Given the description of an element on the screen output the (x, y) to click on. 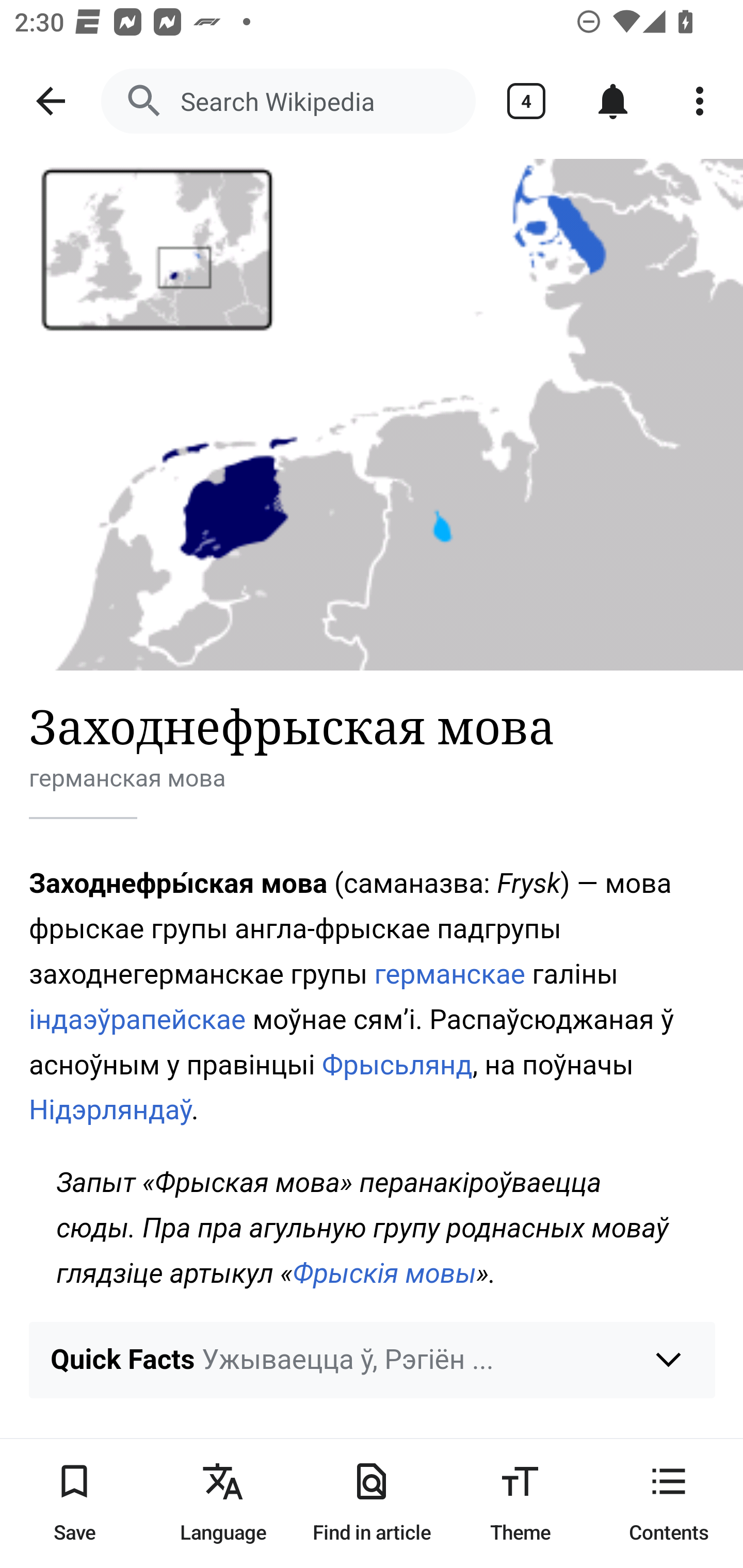
Show tabs 4 (525, 100)
Notifications (612, 100)
Navigate up (50, 101)
More options (699, 101)
Search Wikipedia (288, 100)
Image: Заходнефрыская мова (371, 414)
германскае (450, 973)
індаэўрапейскае (137, 1018)
Фрысьлянд (397, 1063)
Нідэрляндаў (110, 1109)
Фрыскія мовы (384, 1272)
Quick Facts  Ужываецца ў, Рэгіён ... Expand table (372, 1359)
Save (74, 1502)
Language (222, 1502)
Find in article (371, 1502)
Theme (519, 1502)
Contents (668, 1502)
